Given the description of an element on the screen output the (x, y) to click on. 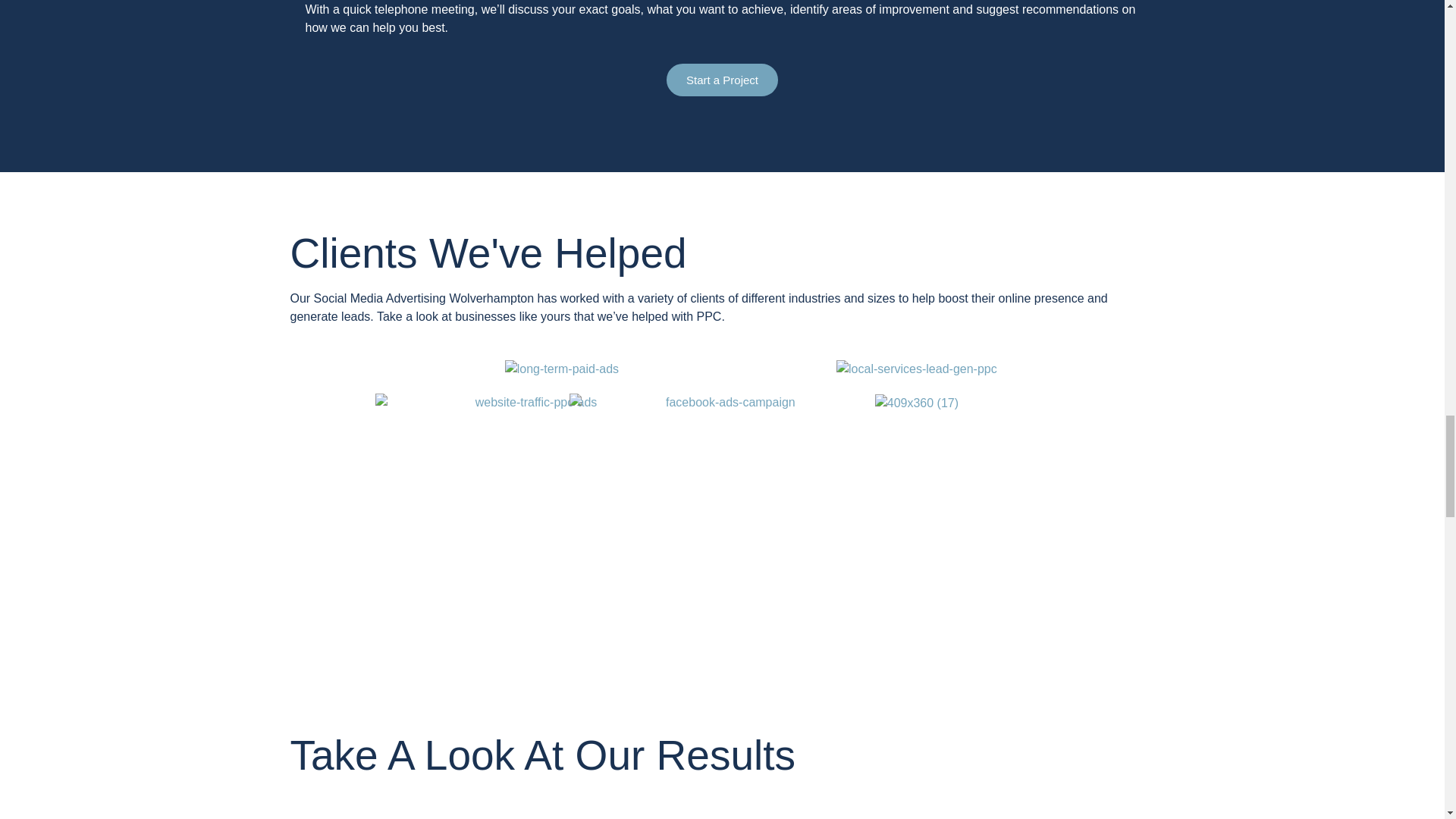
Start a Project (721, 79)
long-term-paid-ads (561, 369)
local-services-lead-gen-ppc (916, 369)
